Given the description of an element on the screen output the (x, y) to click on. 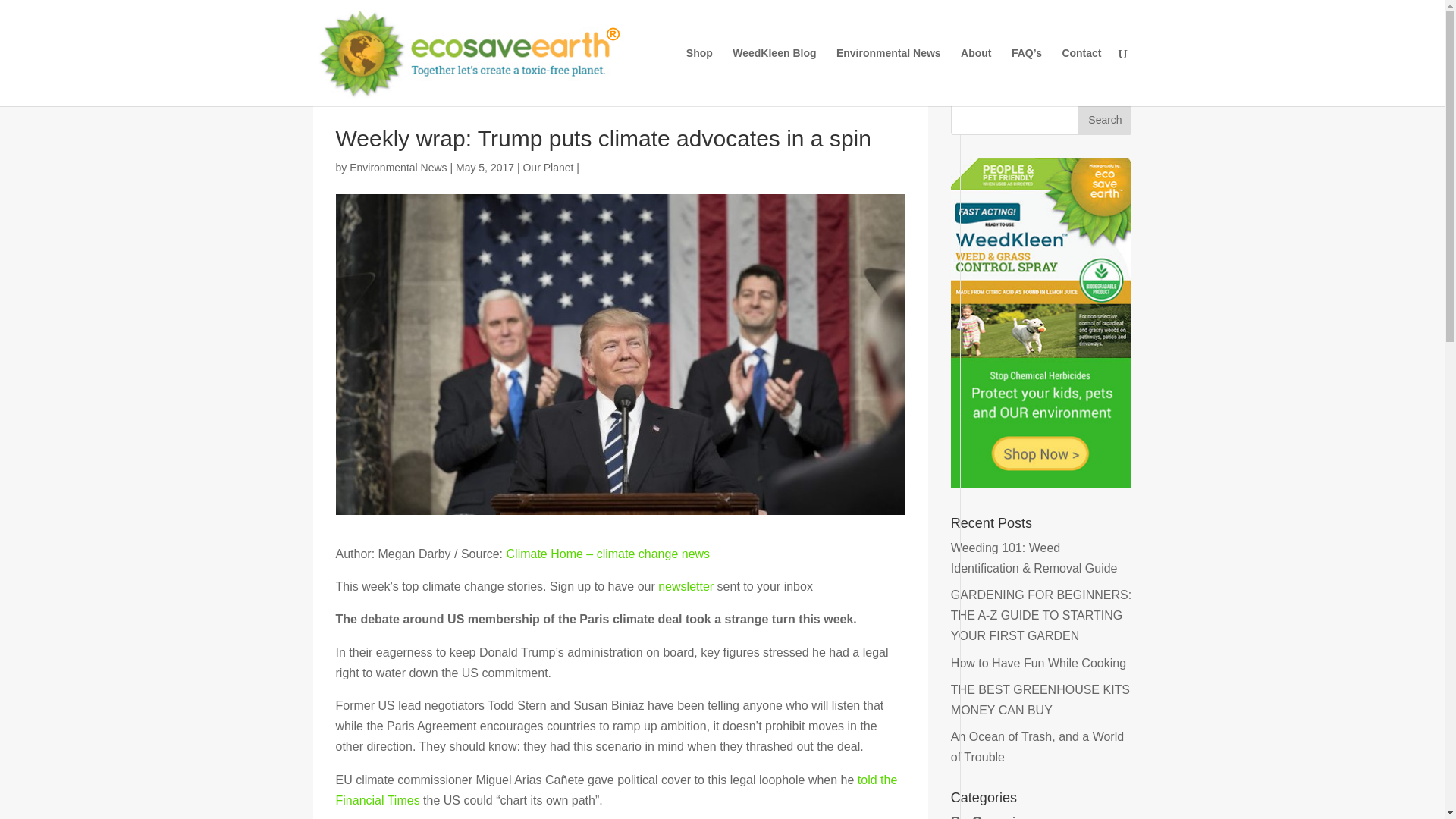
Search (1104, 119)
Environmental News (887, 76)
How to Have Fun While Cooking (1037, 662)
THE BEST GREENHOUSE KITS MONEY CAN BUY (1039, 699)
Our Planet (547, 167)
Be Organic (986, 816)
WeedKleen Blog (773, 76)
newsletter (685, 585)
An Ocean of Trash, and a World of Trouble (1037, 746)
